Given the description of an element on the screen output the (x, y) to click on. 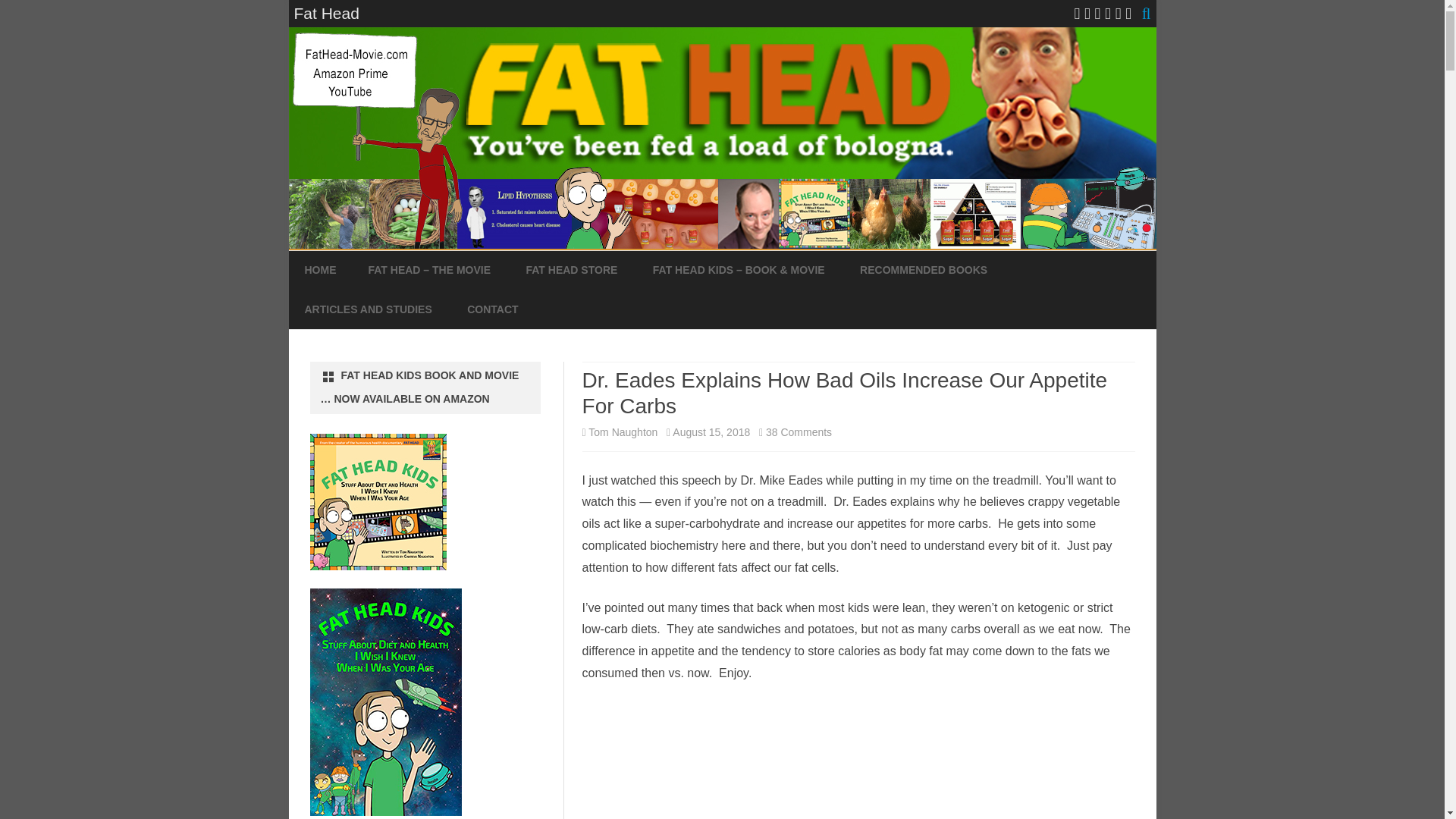
ARTICLES AND STUDIES (368, 310)
RECOMMENDED BOOKS (923, 270)
Tom Naughton (623, 431)
FAT HEAD STORE (571, 270)
CONTACT (492, 310)
